Given the description of an element on the screen output the (x, y) to click on. 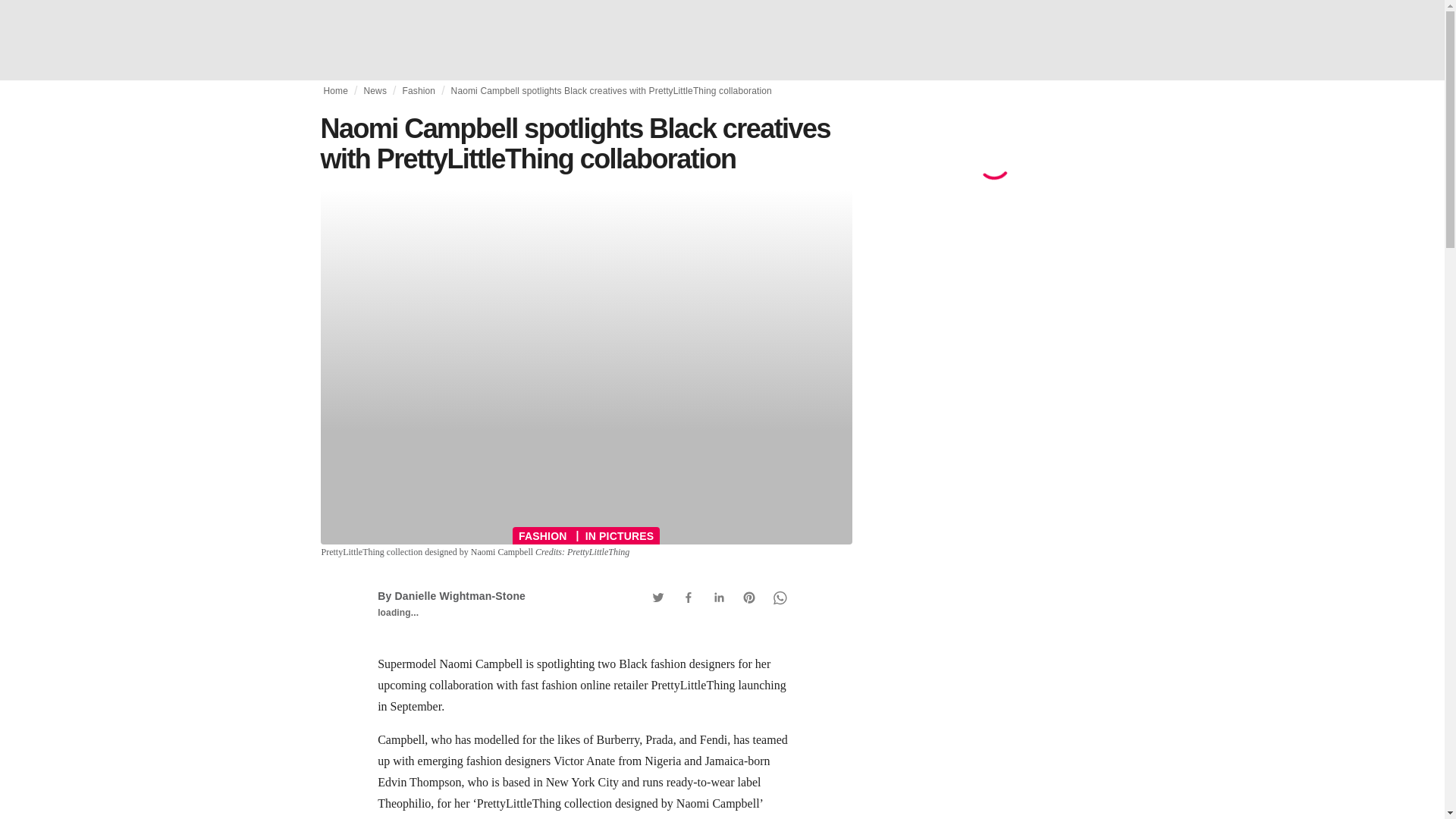
Fashion (418, 90)
Home (335, 90)
News (375, 90)
By Danielle Wightman-Stone (451, 595)
